Given the description of an element on the screen output the (x, y) to click on. 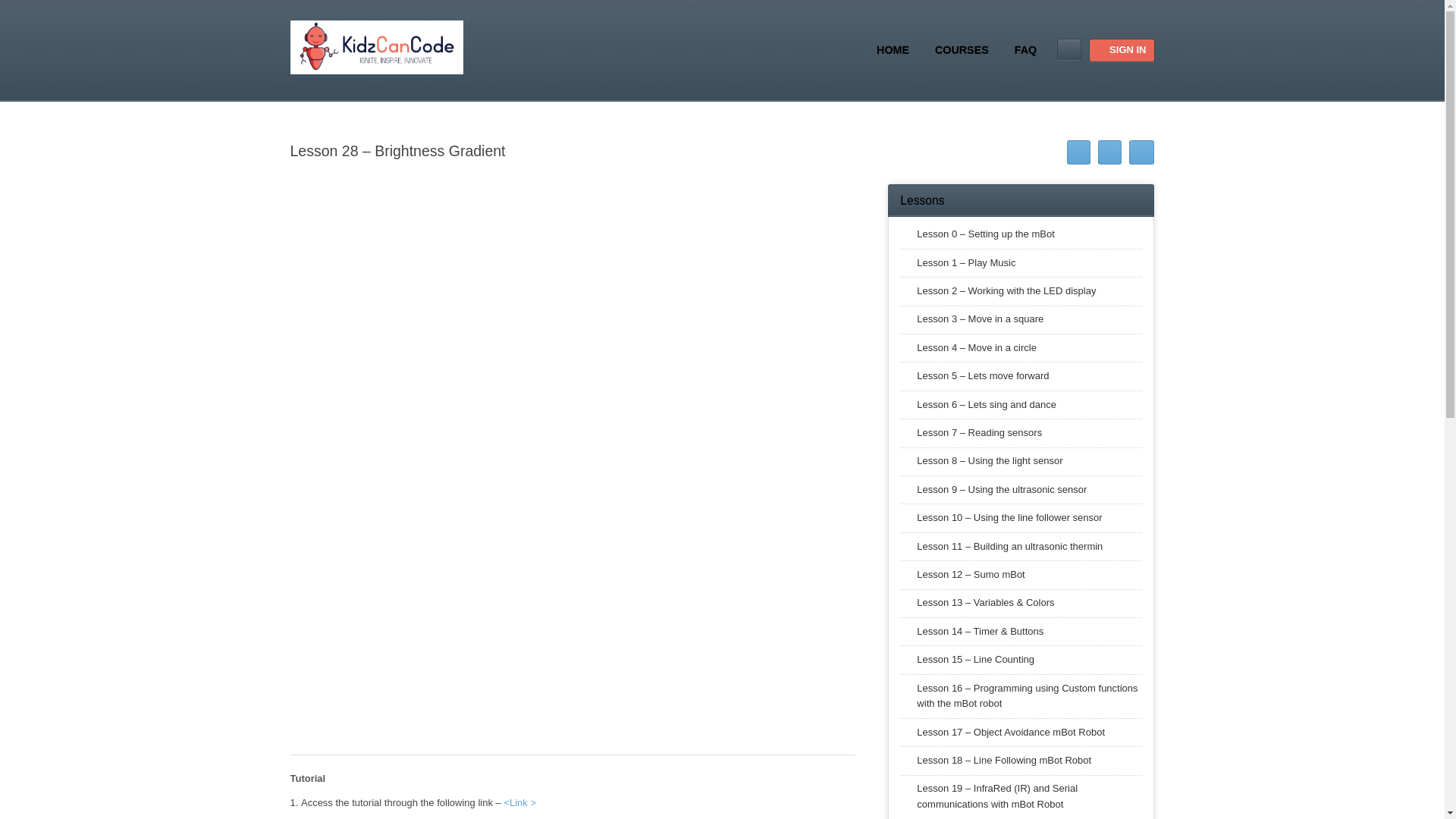
Previous Lesson (1078, 152)
COURSES (961, 49)
Next Lesson (1109, 152)
Close Lesson (1141, 152)
HOME (892, 49)
SIGN IN (1121, 50)
